Given the description of an element on the screen output the (x, y) to click on. 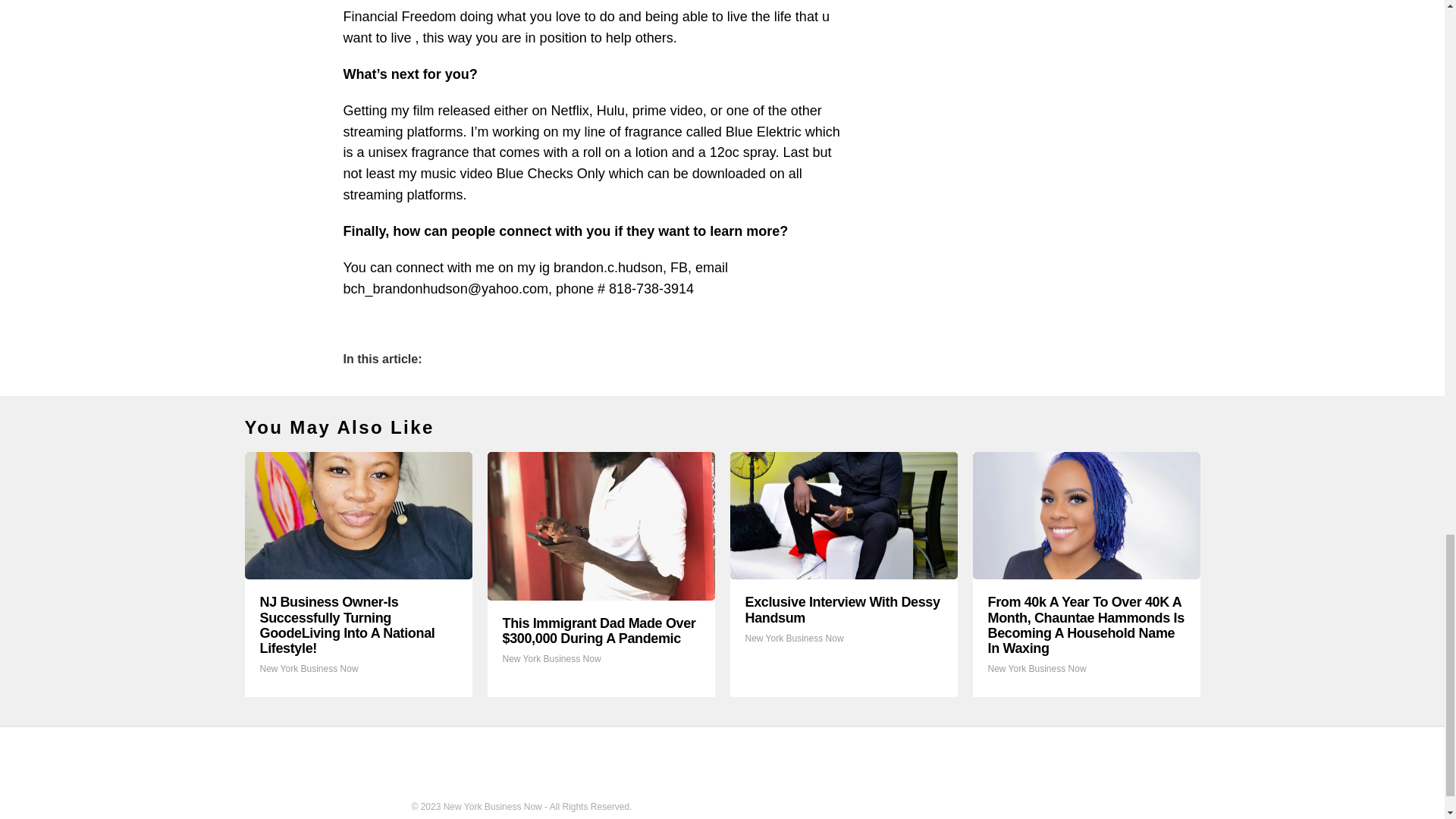
Posts by New York Business Now (308, 668)
Posts by New York Business Now (550, 658)
Posts by New York Business Now (1036, 668)
Posts by New York Business Now (793, 638)
